Given the description of an element on the screen output the (x, y) to click on. 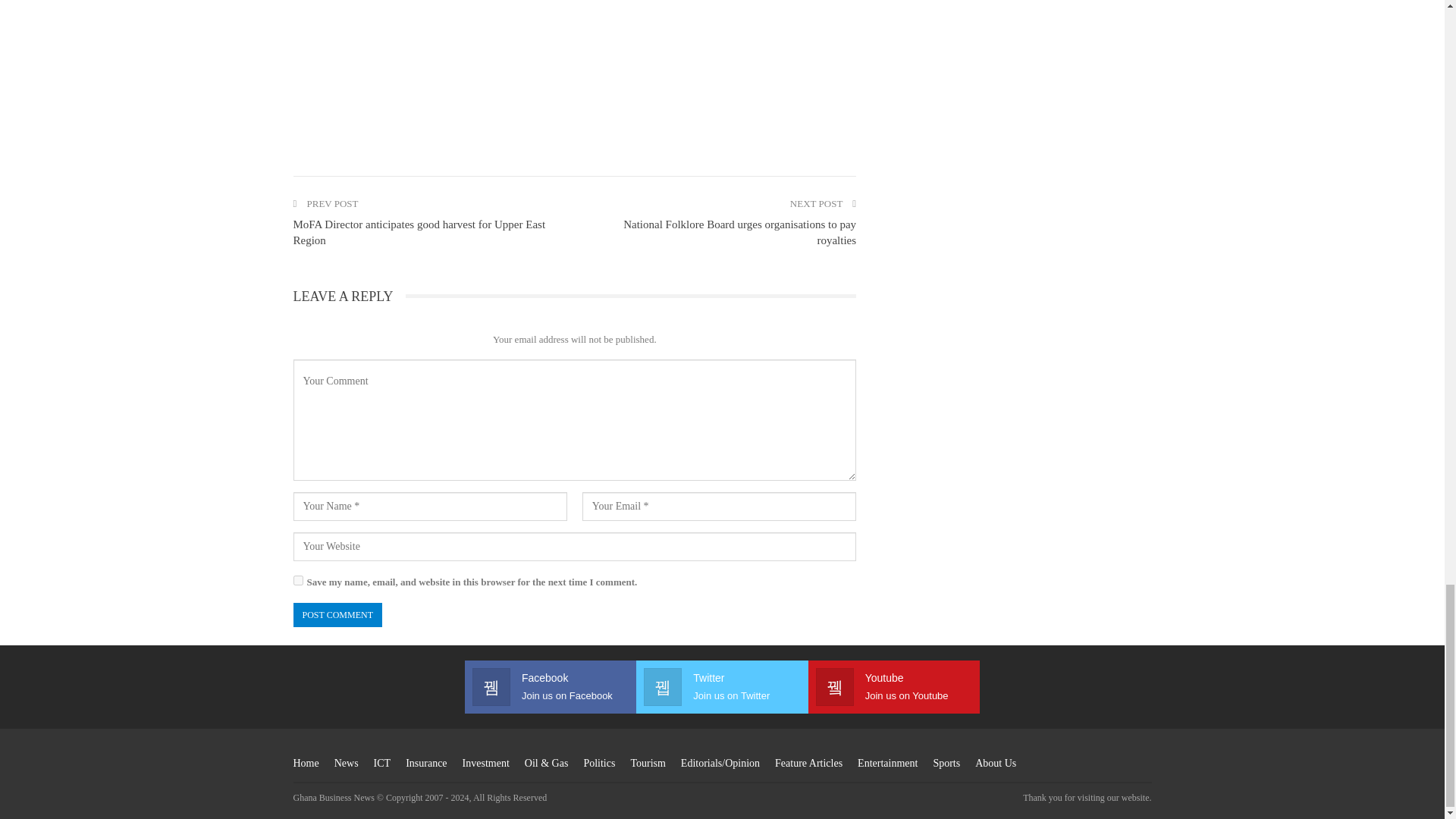
Post Comment (336, 615)
Post Comment (336, 615)
yes (297, 580)
MoFA Director anticipates good harvest for Upper East Region (418, 232)
National Folklore Board urges organisations to pay royalties (739, 232)
